Given the description of an element on the screen output the (x, y) to click on. 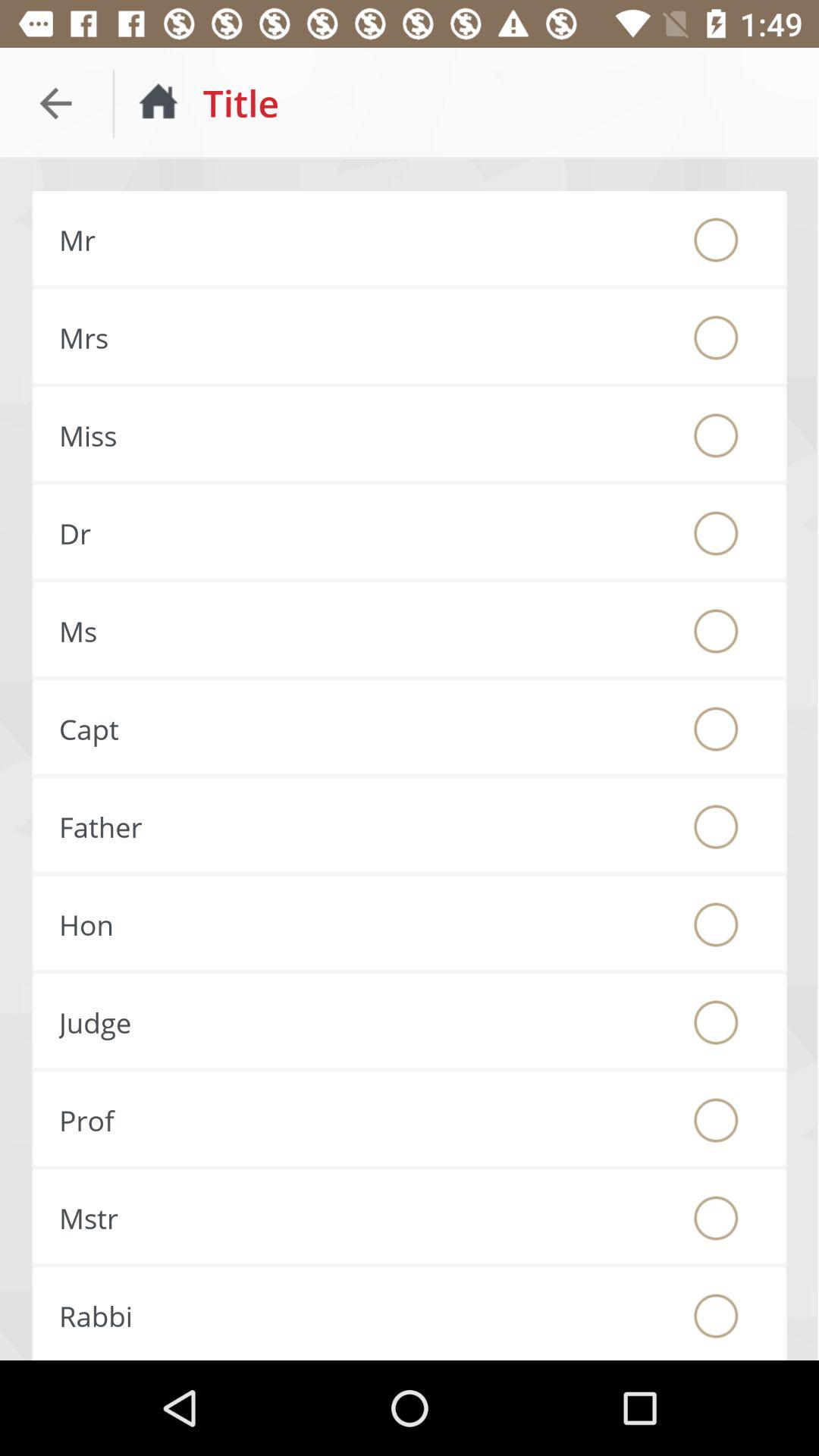
choose mrs. title (715, 337)
